Given the description of an element on the screen output the (x, y) to click on. 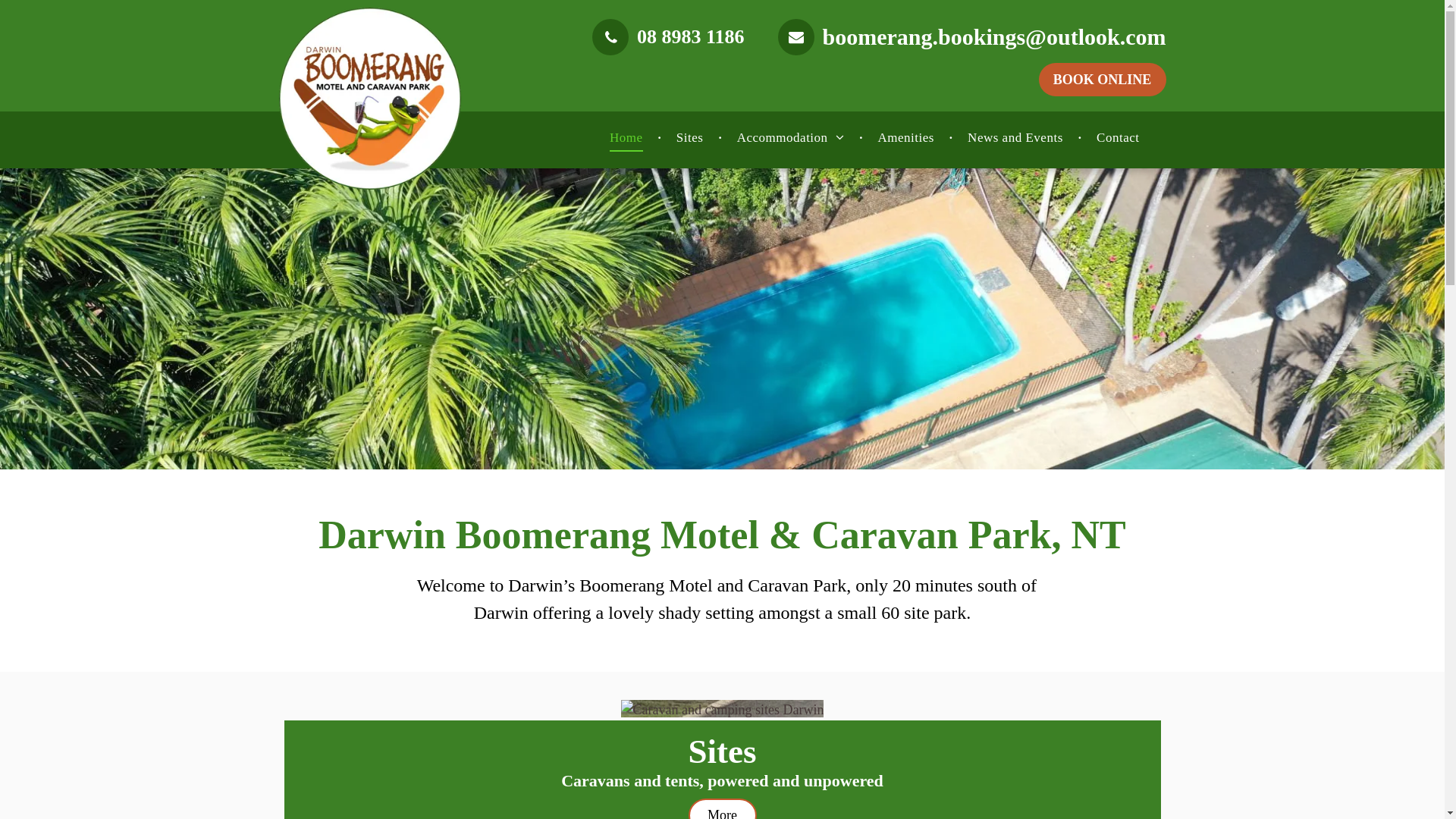
Amenities Element type: text (905, 137)
08 8983 1186 Element type: text (667, 36)
Home Element type: text (626, 137)
Accommodation Element type: text (790, 137)
boomerang.bookings@outlook.com Element type: text (971, 36)
BOOK ONLINE Element type: text (1102, 79)
News and Events Element type: text (1015, 137)
Sites Element type: text (689, 137)
Contact Element type: text (1117, 137)
